Given the description of an element on the screen output the (x, y) to click on. 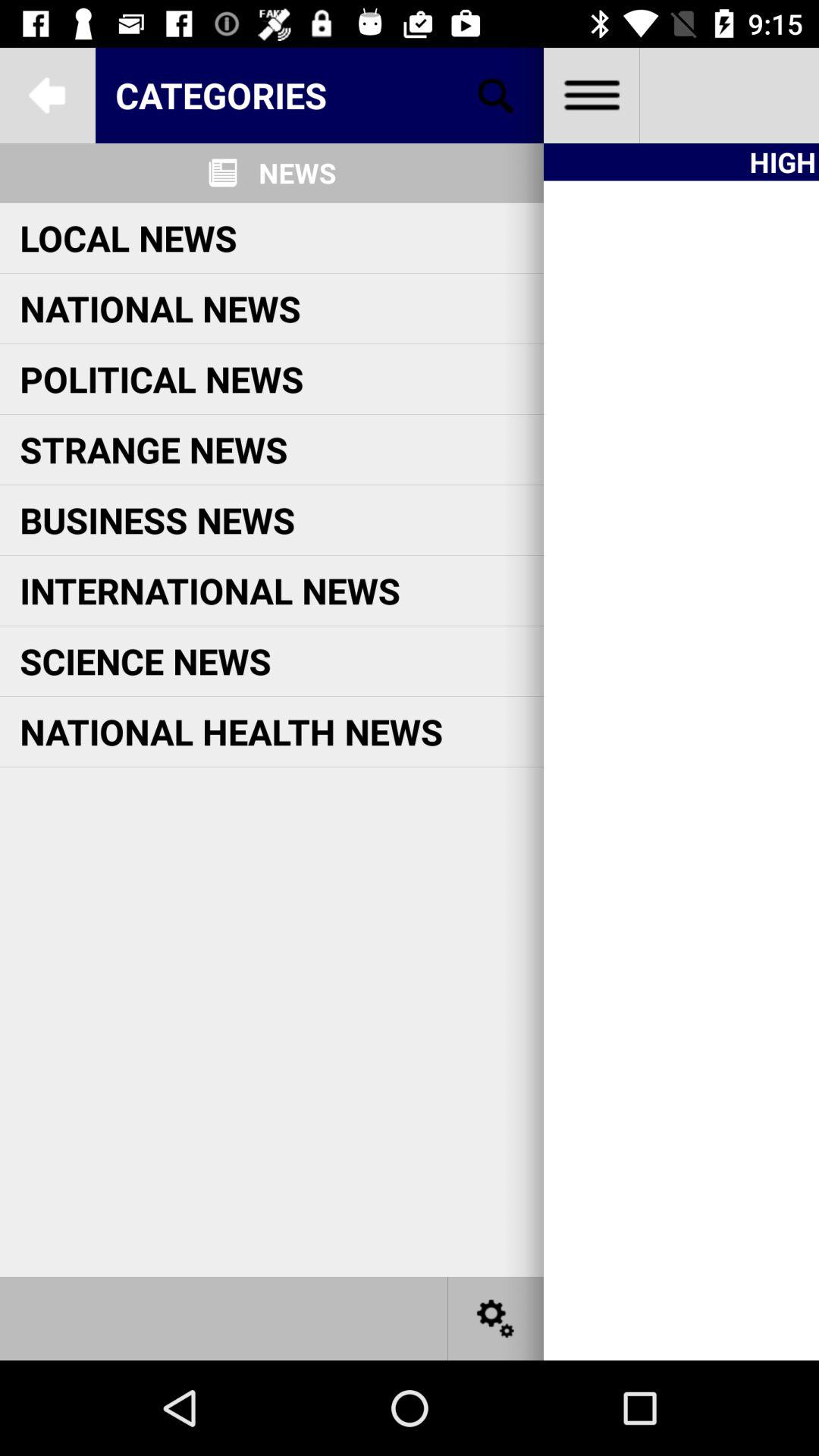
goes back (47, 95)
